Given the description of an element on the screen output the (x, y) to click on. 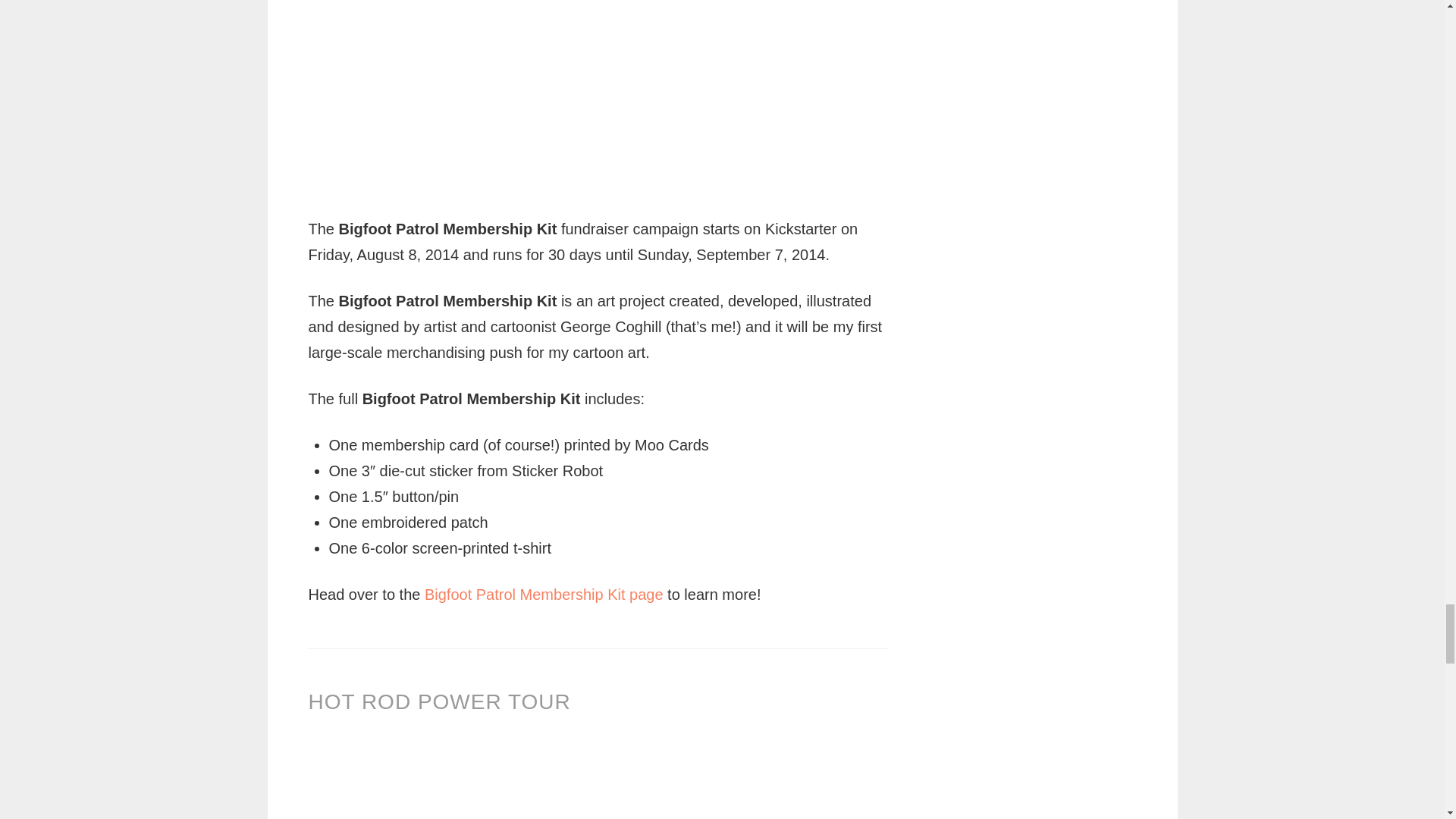
Bigfoot Patrol Membership Kit official page (544, 594)
